Given the description of an element on the screen output the (x, y) to click on. 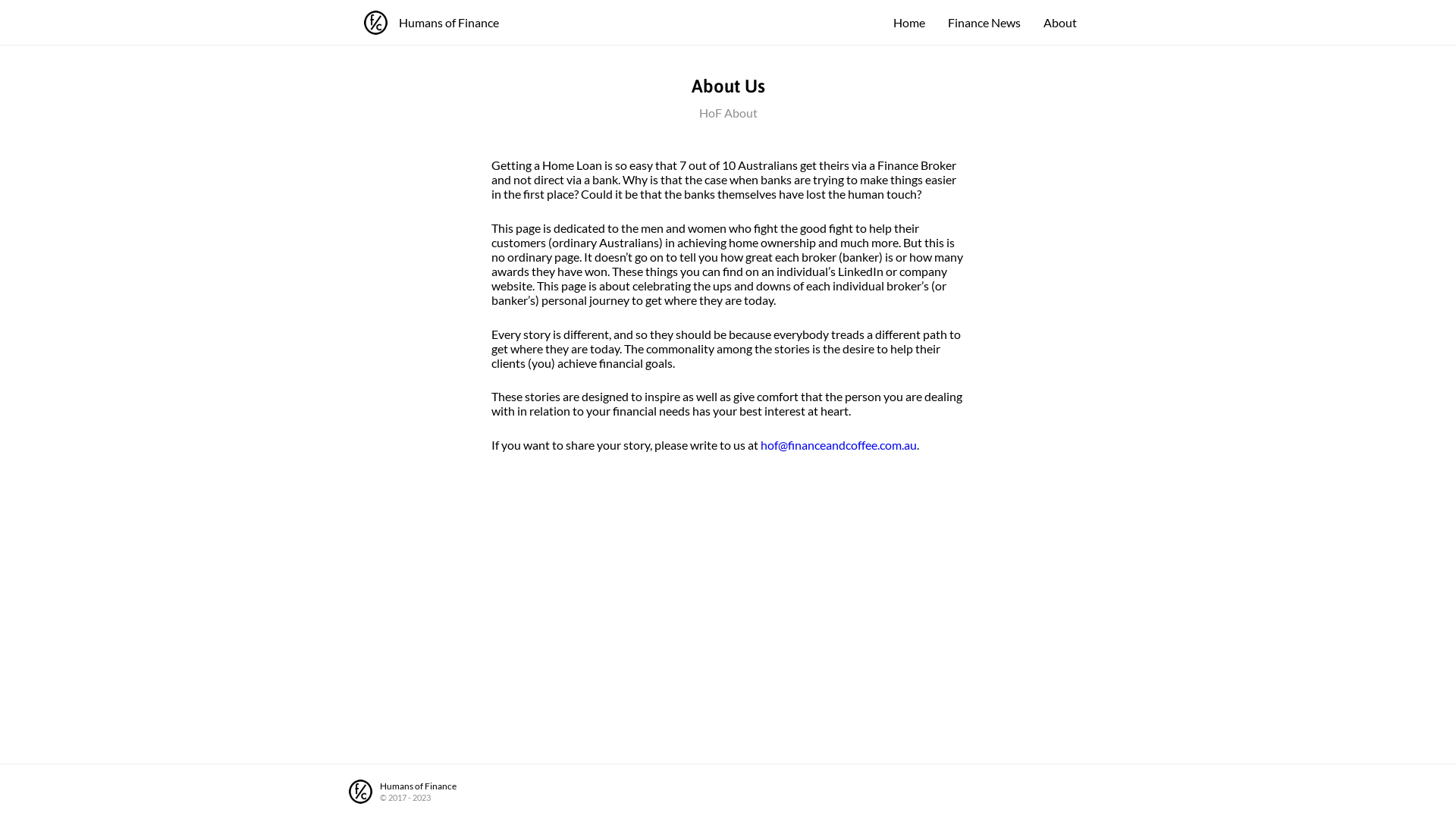
Home Element type: text (908, 22)
About Element type: text (1059, 22)
hof@financeandcoffee.com.au Element type: text (838, 444)
Finance News Element type: text (984, 22)
Humans of Finance Element type: text (431, 22)
